Given the description of an element on the screen output the (x, y) to click on. 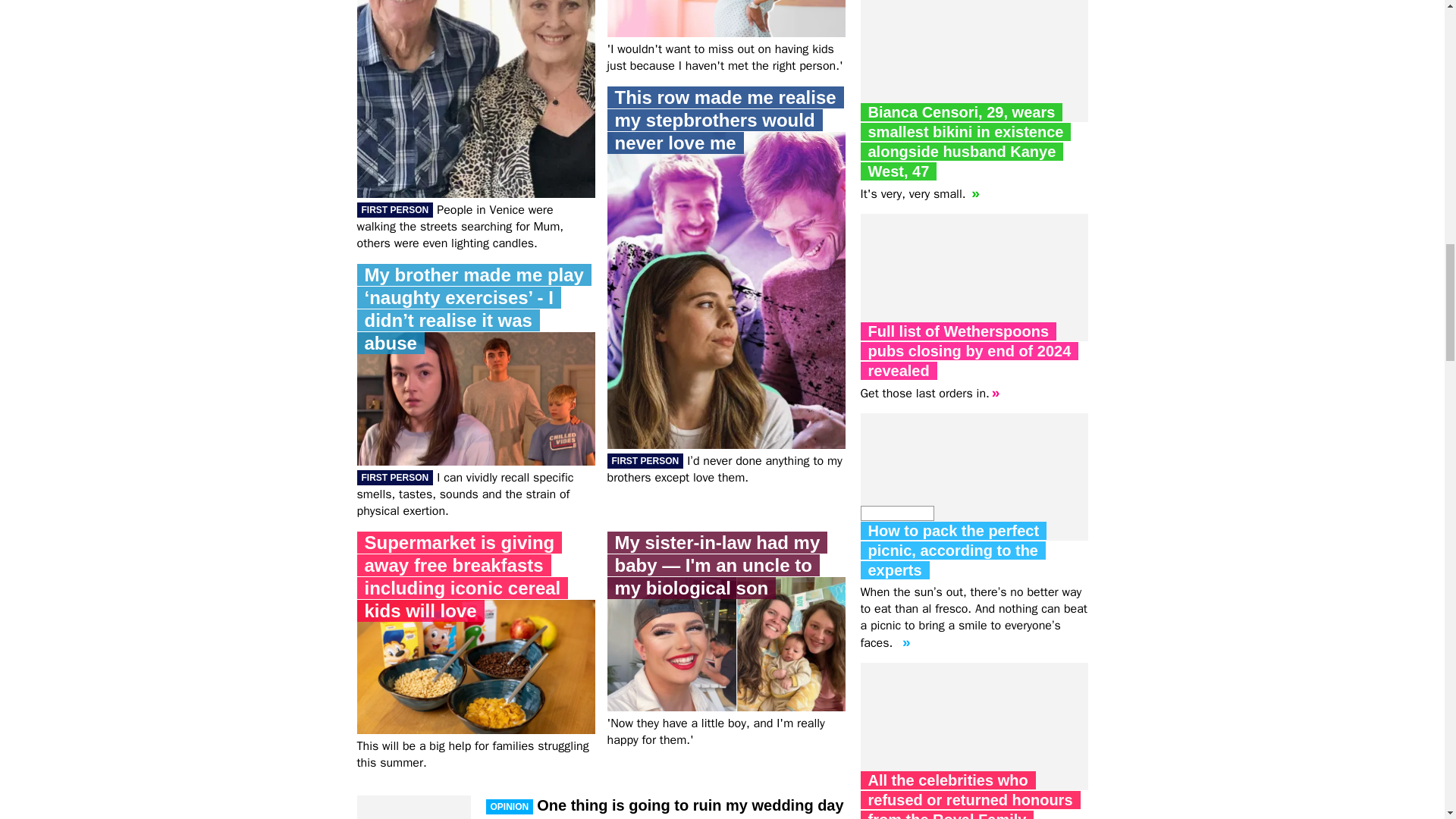
One thing is going to ruin my wedding day (663, 805)
